Given the description of an element on the screen output the (x, y) to click on. 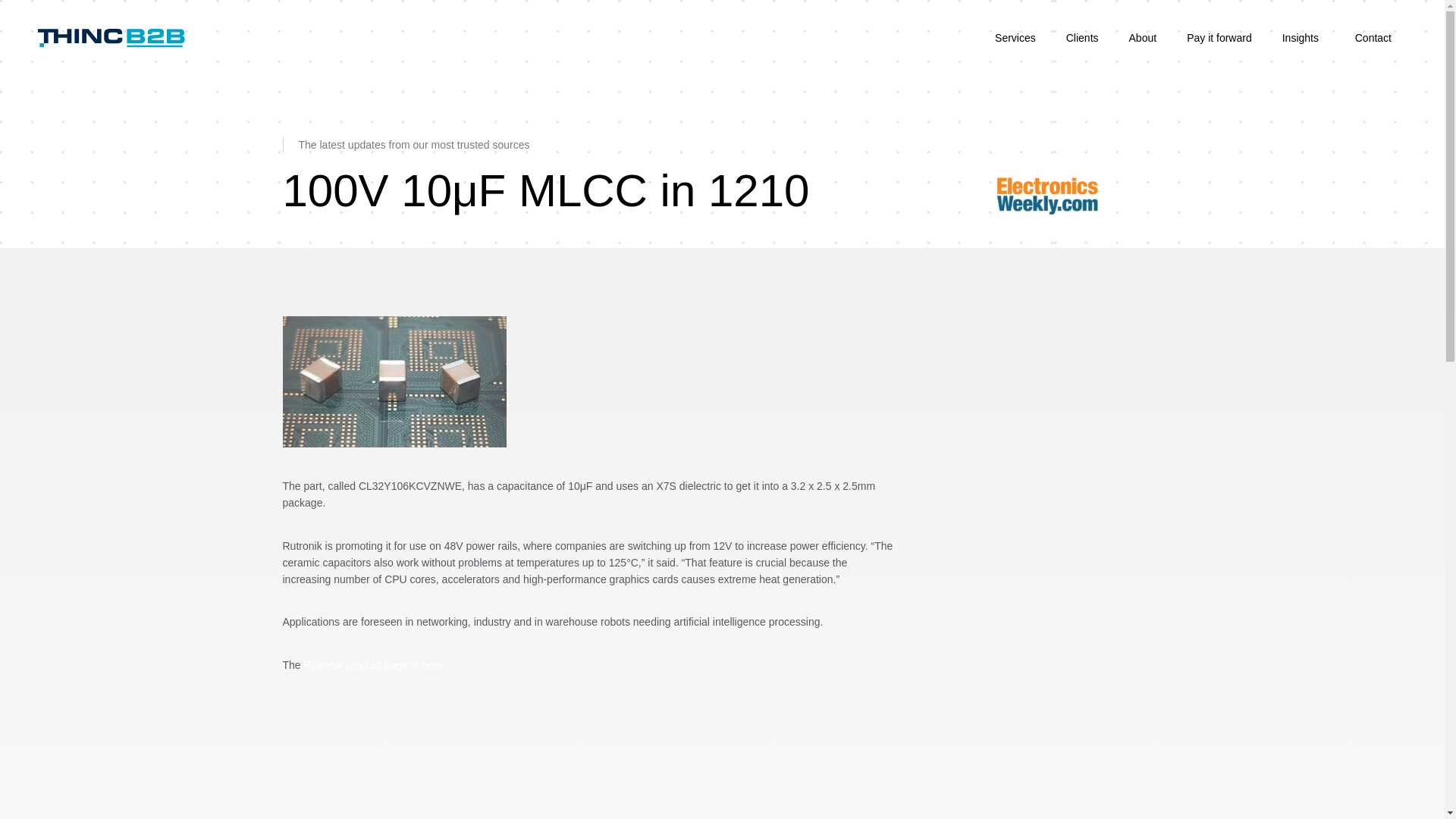
Rutronik product page is here (374, 664)
Pay it forward (1219, 37)
Contact (1372, 37)
Insights   (1302, 37)
Clients (1082, 37)
About (1142, 37)
Services (1015, 37)
